Given the description of an element on the screen output the (x, y) to click on. 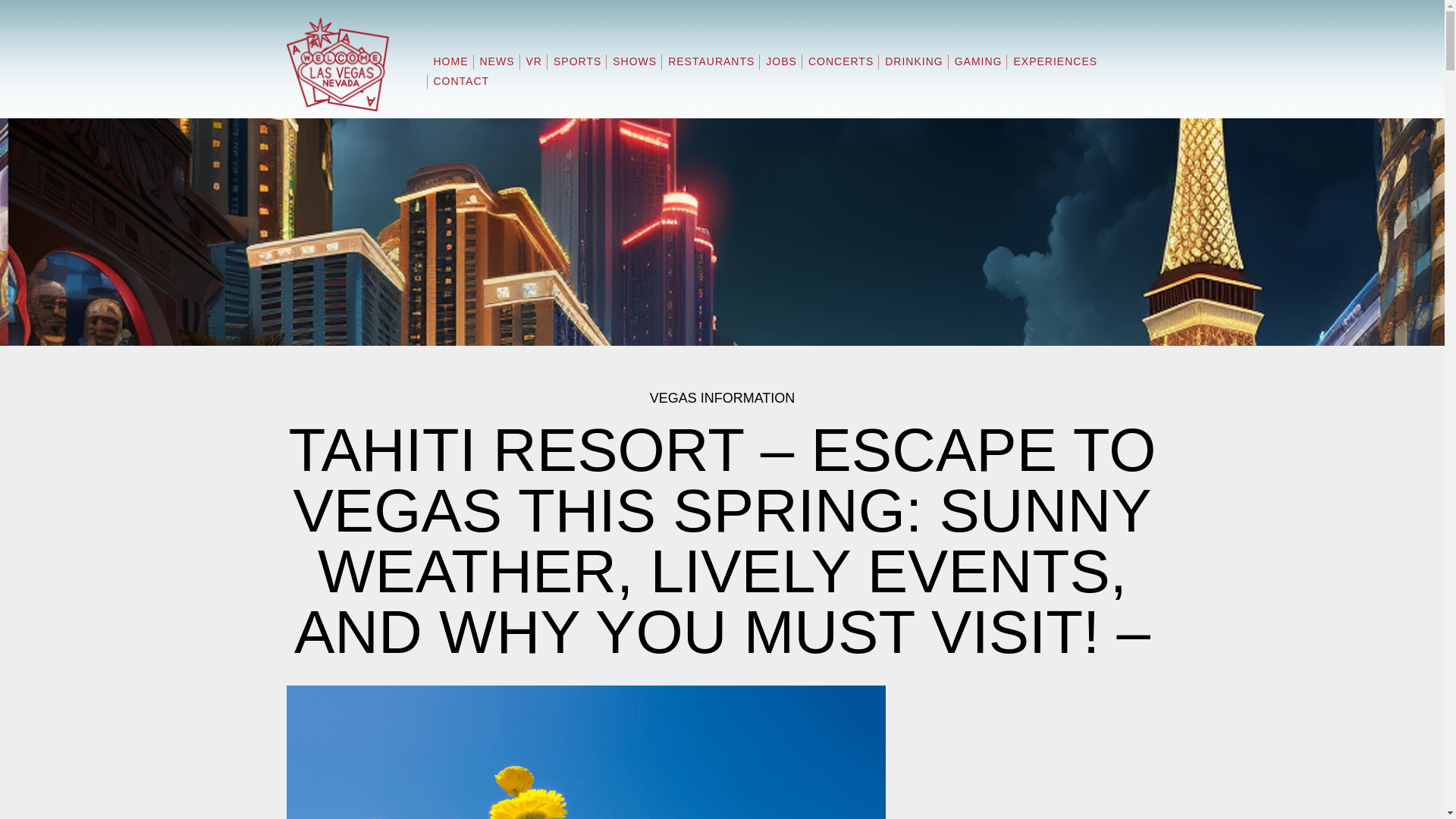
CONCERTS (841, 66)
SPORTS (577, 66)
VR (532, 66)
HOME (450, 66)
EXPERIENCES (1054, 66)
GAMING (978, 66)
NEWS (497, 66)
CONTACT (461, 86)
RESTAURANTS (710, 66)
SHOWS (634, 66)
DRINKING (913, 66)
JOBS (780, 66)
